Given the description of an element on the screen output the (x, y) to click on. 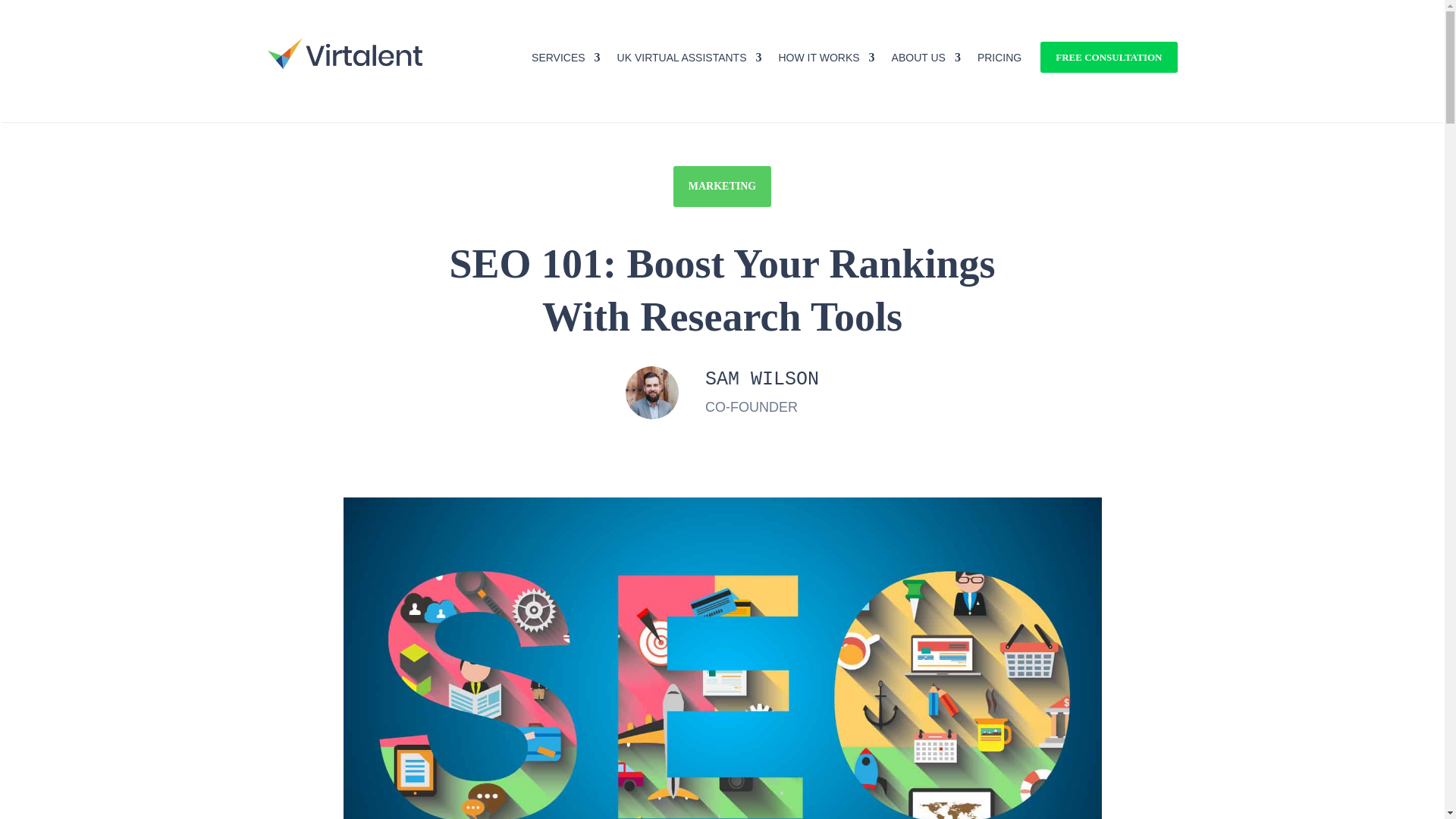
UK VIRTUAL ASSISTANTS (689, 60)
SERVICES (565, 60)
